Given the description of an element on the screen output the (x, y) to click on. 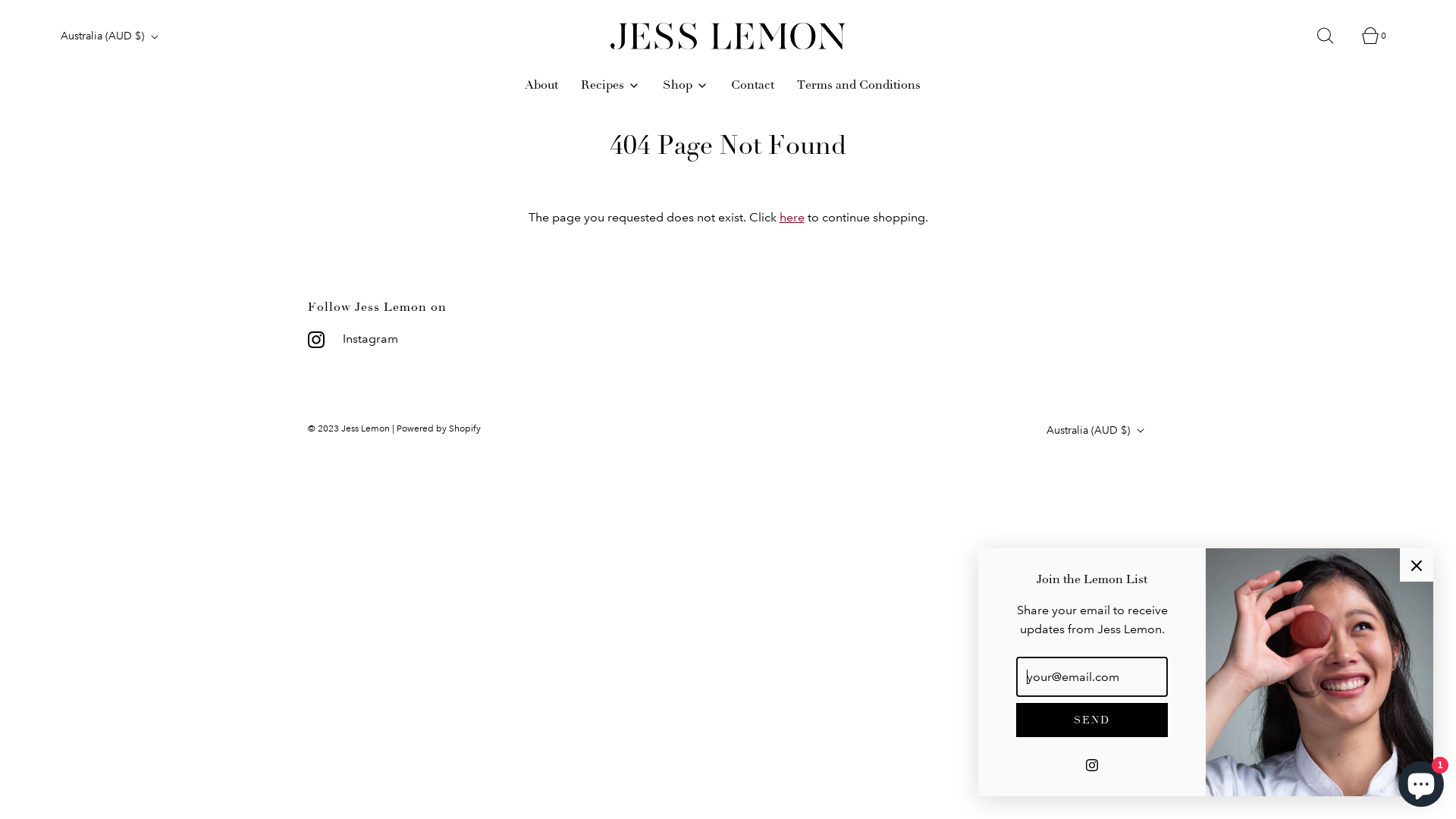
Shopify online store chat Element type: hover (1420, 780)
Contact Element type: text (752, 85)
SEND Element type: text (1091, 719)
0 Element type: text (1378, 35)
Instagram icon Instagram Element type: text (352, 338)
About Element type: text (541, 85)
Powered by Shopify Element type: text (438, 428)
Terms and Conditions Element type: text (857, 85)
Australia (AUD $) Element type: text (111, 35)
Shop Element type: text (685, 85)
here Element type: text (791, 217)
Australia (AUD $) Element type: text (1097, 430)
Instagram icon Element type: text (1091, 763)
Recipes Element type: text (610, 85)
Search Element type: hover (1333, 35)
